Given the description of an element on the screen output the (x, y) to click on. 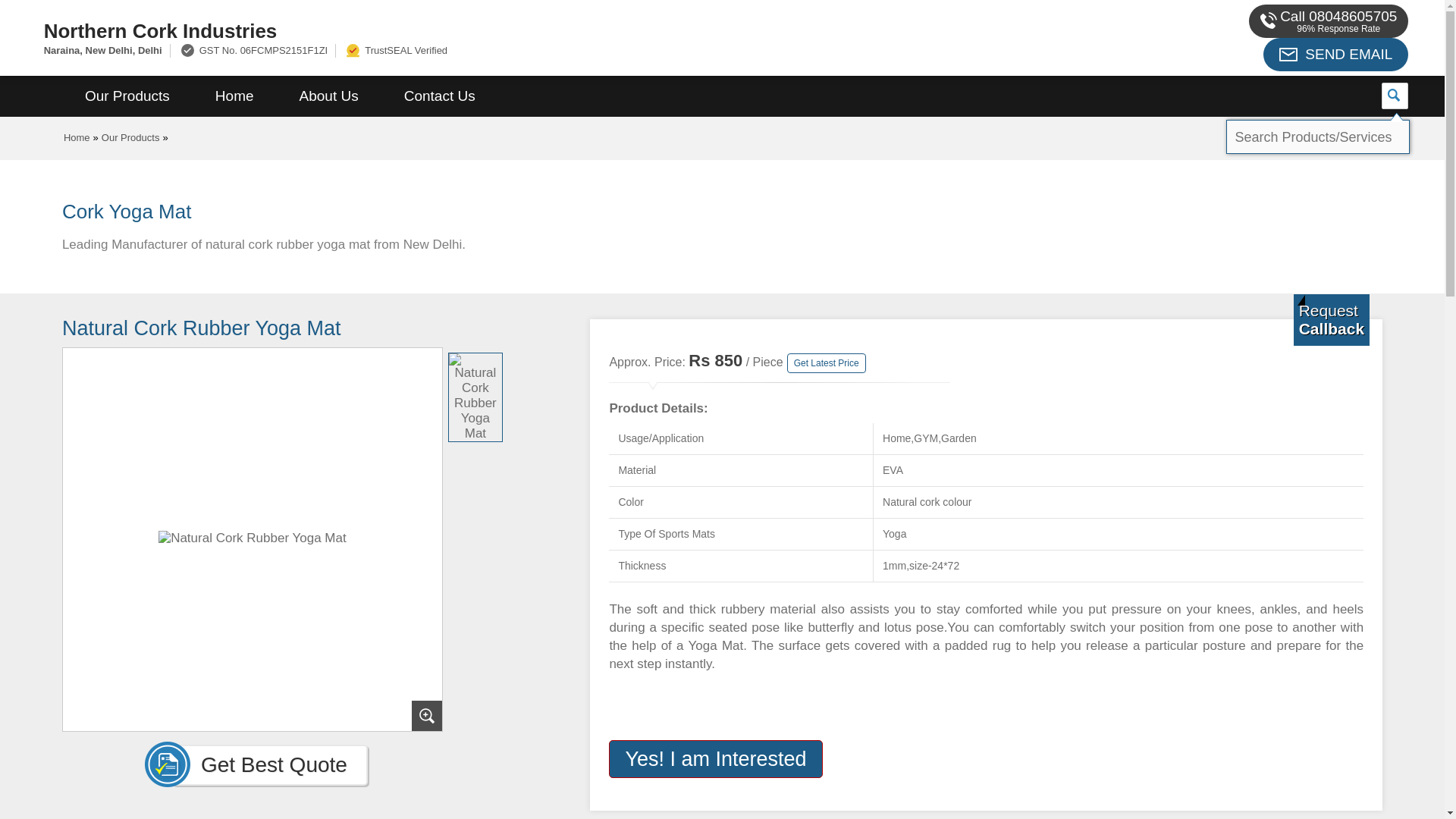
Home (234, 96)
Our Products (130, 137)
Get a Call from us (1332, 319)
Contact Us (439, 96)
About Us (328, 96)
Our Products (127, 96)
Home (77, 137)
Northern Cork Industries (480, 31)
